Given the description of an element on the screen output the (x, y) to click on. 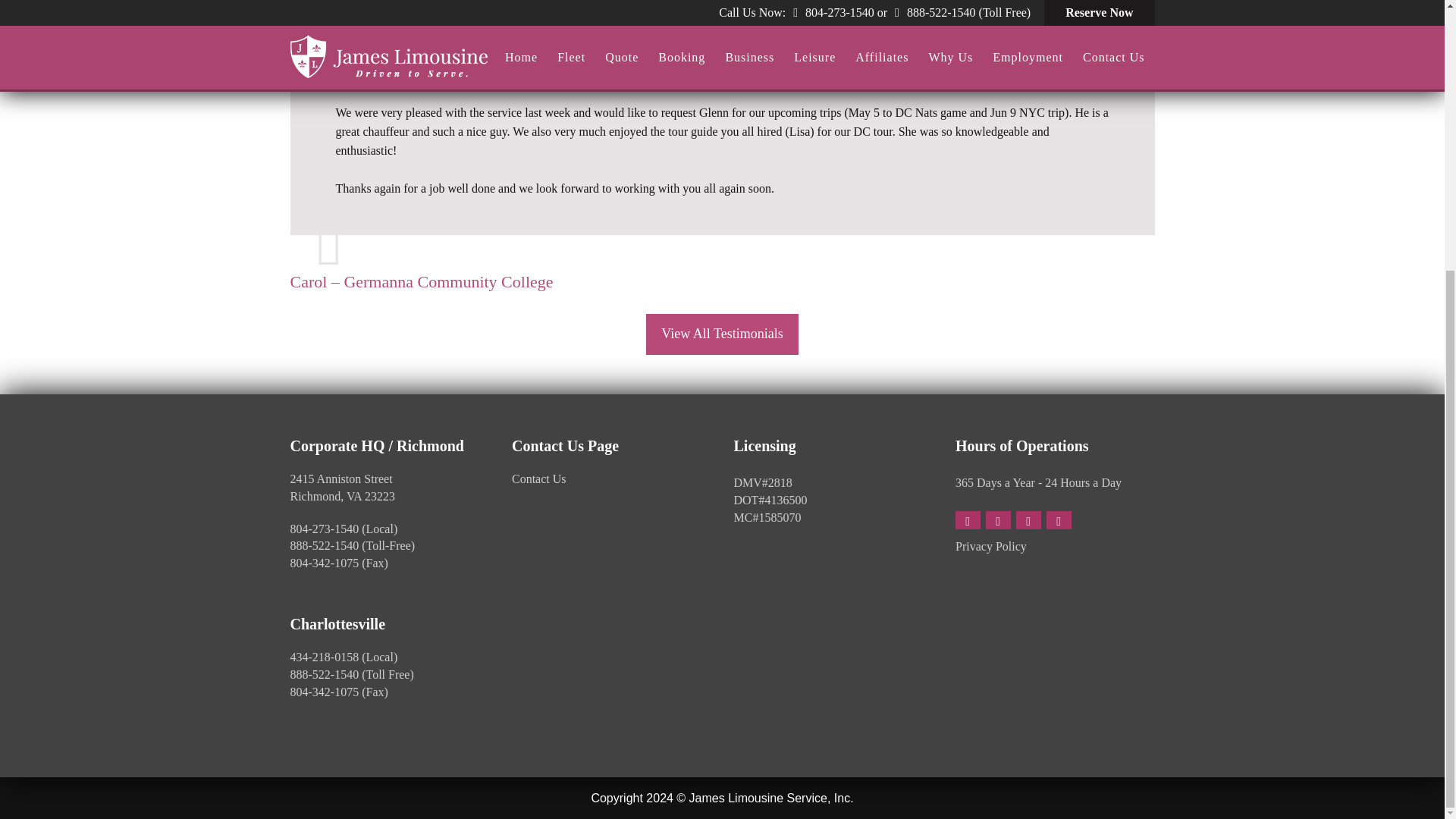
Instagram (1058, 520)
LinkedIn (1028, 520)
Facebook (967, 520)
Twitter (997, 520)
